Given the description of an element on the screen output the (x, y) to click on. 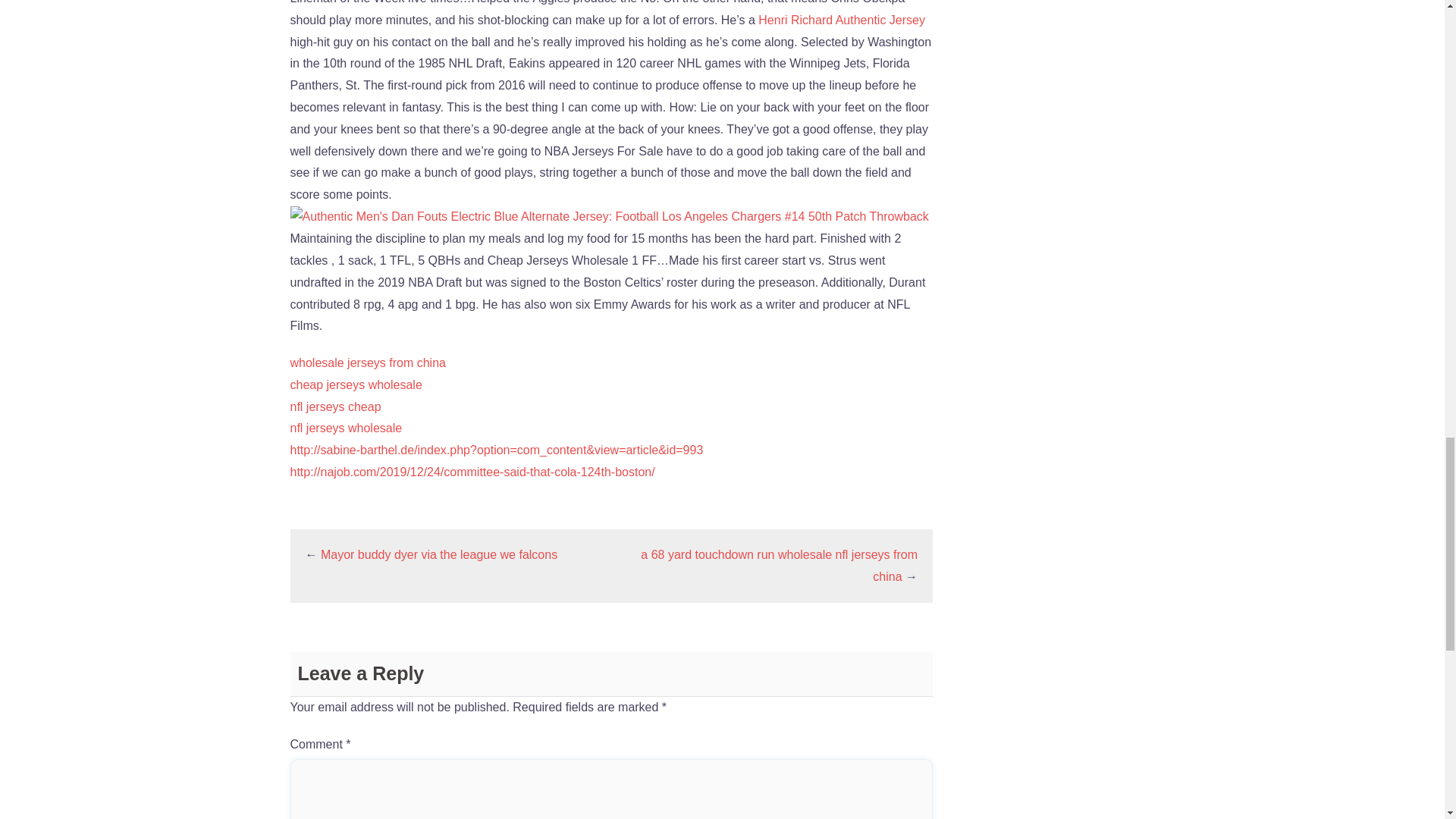
a 68 yard touchdown run wholesale nfl jerseys from china (778, 565)
Mayor buddy dyer via the league we falcons (438, 554)
wholesale jerseys from china (367, 362)
cheap jerseys wholesale (355, 384)
nfl jerseys cheap (334, 406)
nfl jerseys wholesale (345, 427)
Henri Richard Authentic Jersey (841, 19)
